Given the description of an element on the screen output the (x, y) to click on. 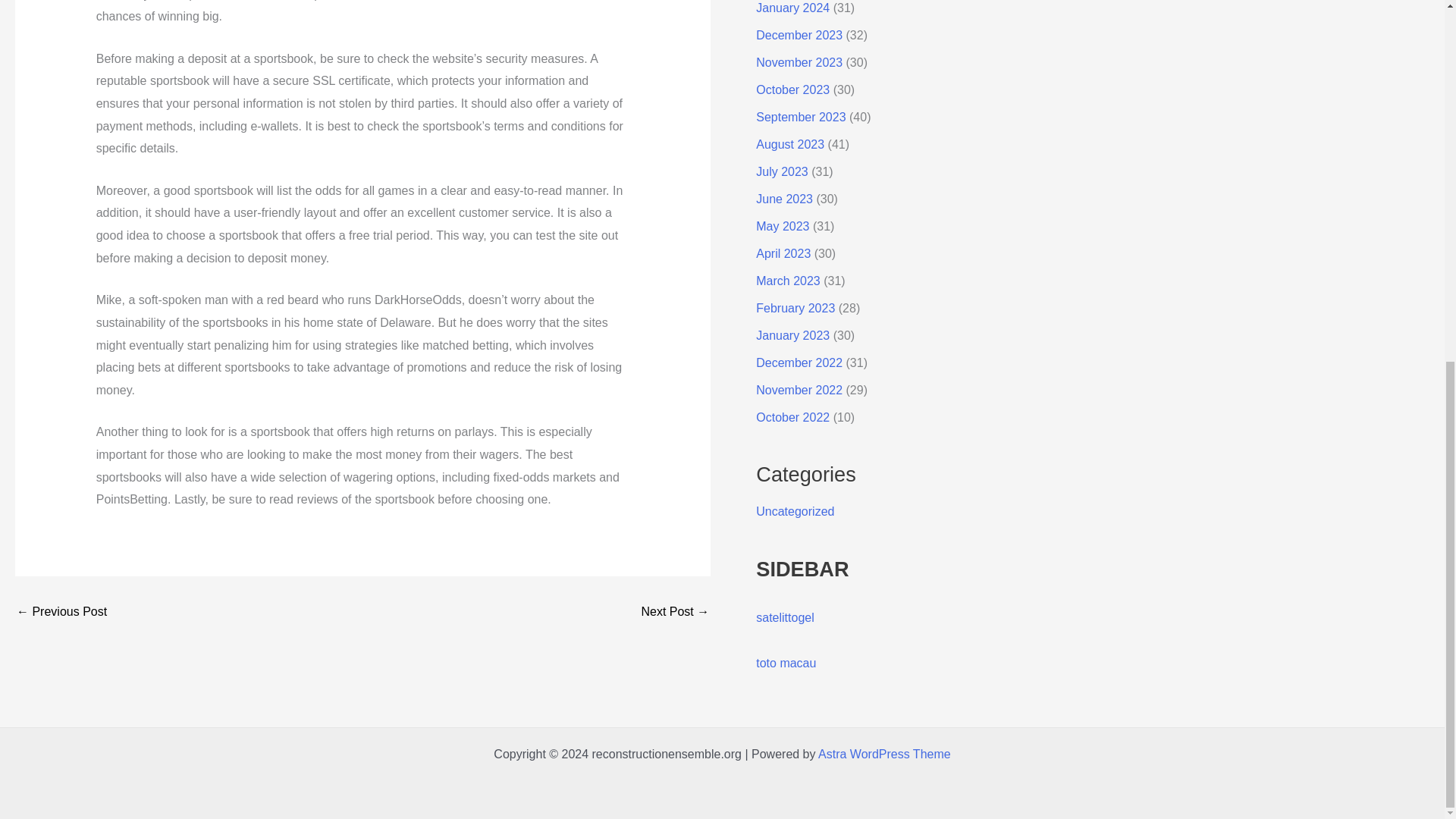
How to Choose a Casino Online (674, 612)
December 2022 (799, 362)
satelittogel (784, 617)
February 2023 (794, 308)
What is a Slot? (61, 612)
December 2023 (799, 34)
Uncategorized (794, 511)
October 2022 (792, 417)
September 2023 (800, 116)
June 2023 (783, 198)
July 2023 (781, 171)
August 2023 (789, 144)
November 2022 (799, 390)
November 2023 (799, 62)
April 2023 (782, 253)
